Given the description of an element on the screen output the (x, y) to click on. 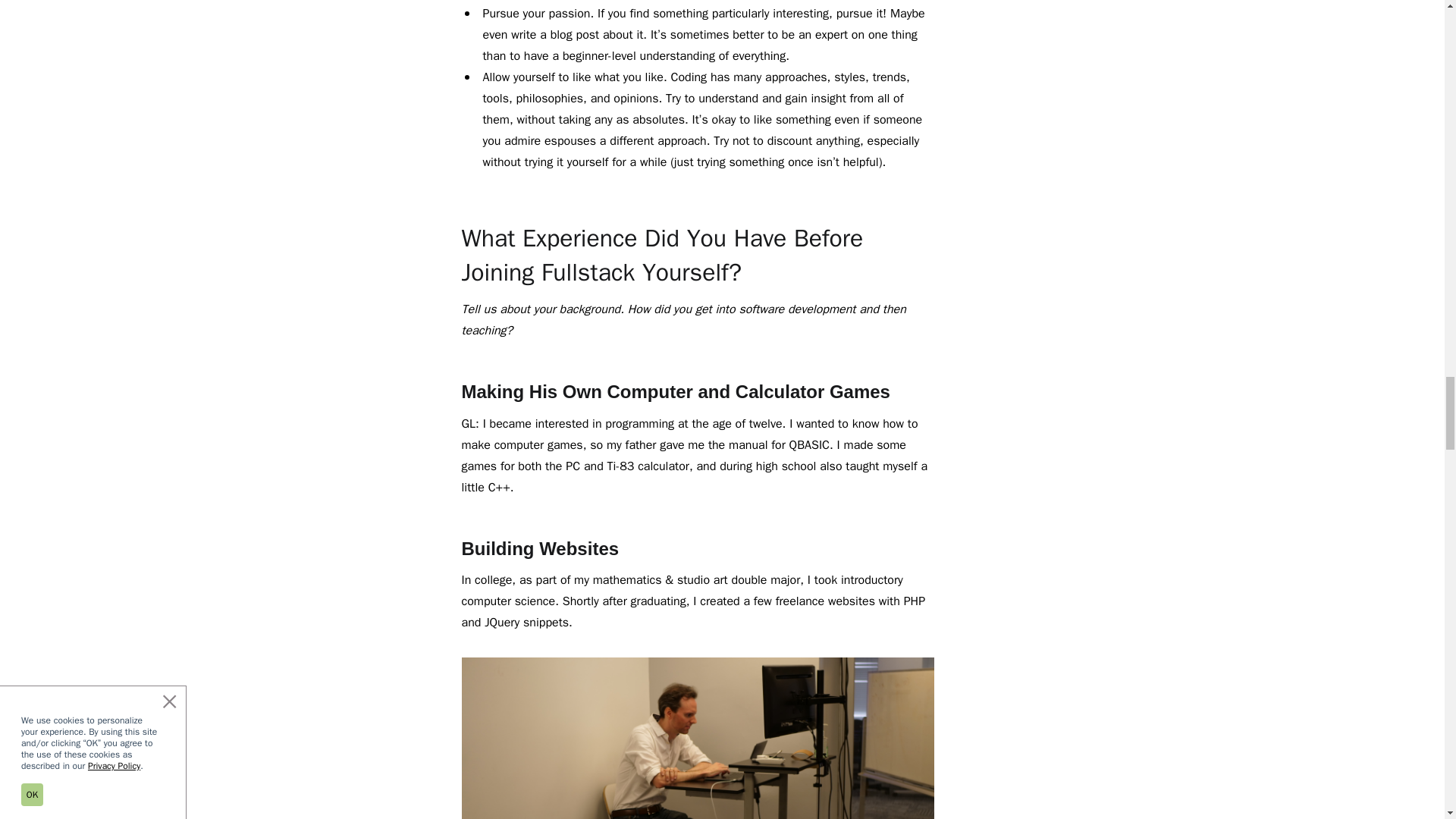
Gabriel Lebec working on a computer (697, 738)
